Given the description of an element on the screen output the (x, y) to click on. 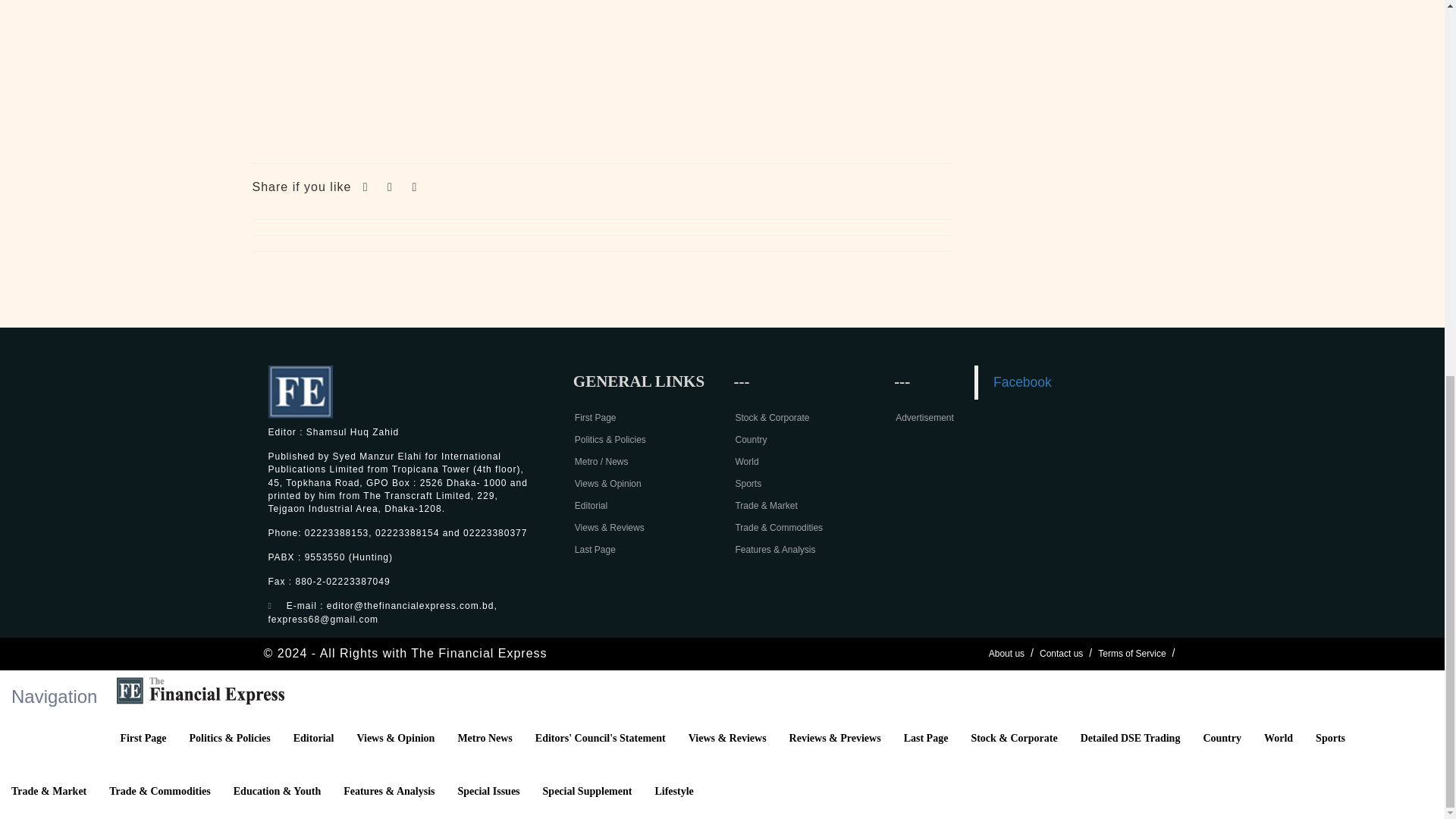
First Page (595, 417)
Advertisement (601, 74)
